Given the description of an element on the screen output the (x, y) to click on. 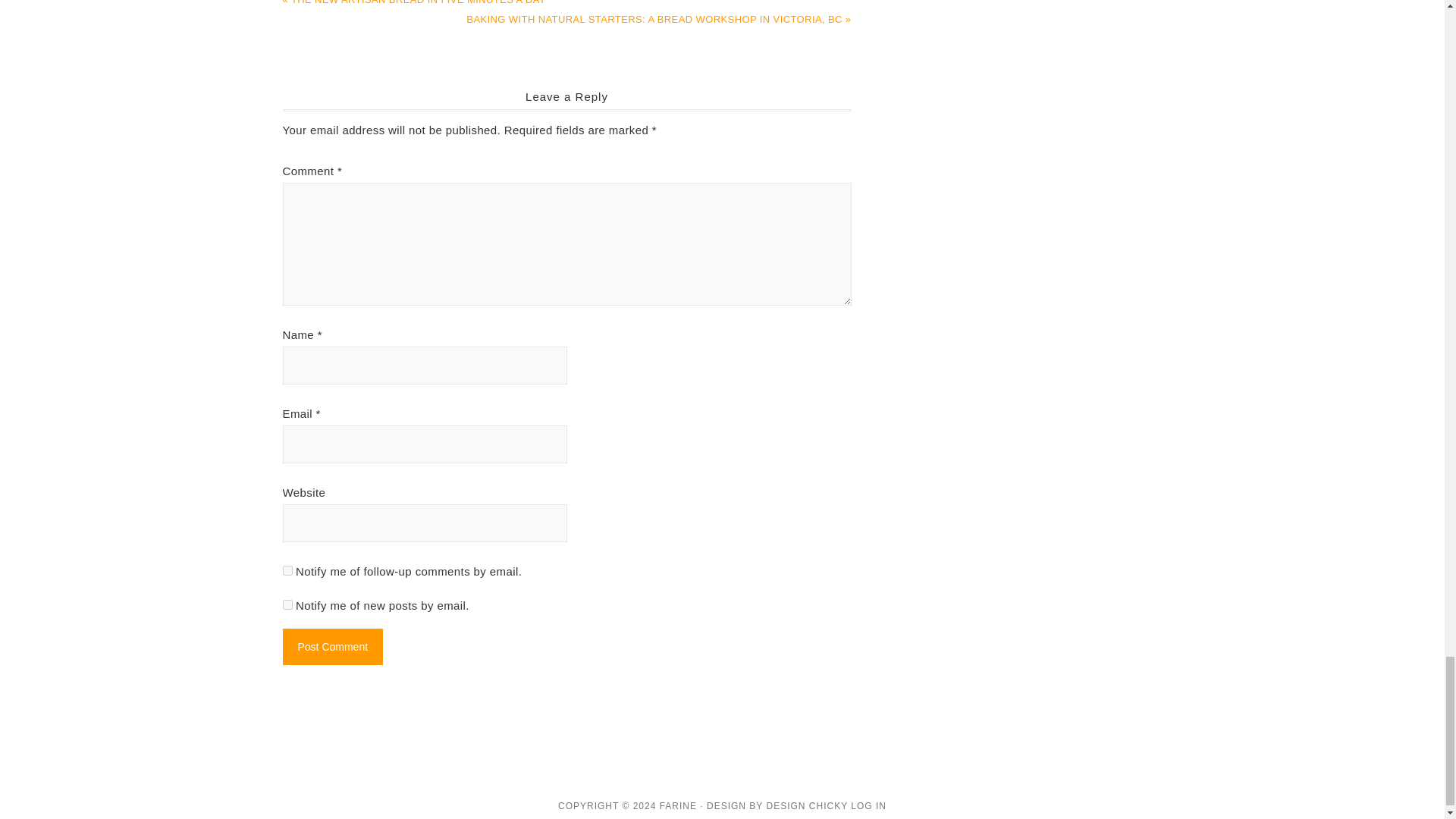
subscribe (287, 570)
Post Comment (332, 646)
subscribe (287, 604)
